Given the description of an element on the screen output the (x, y) to click on. 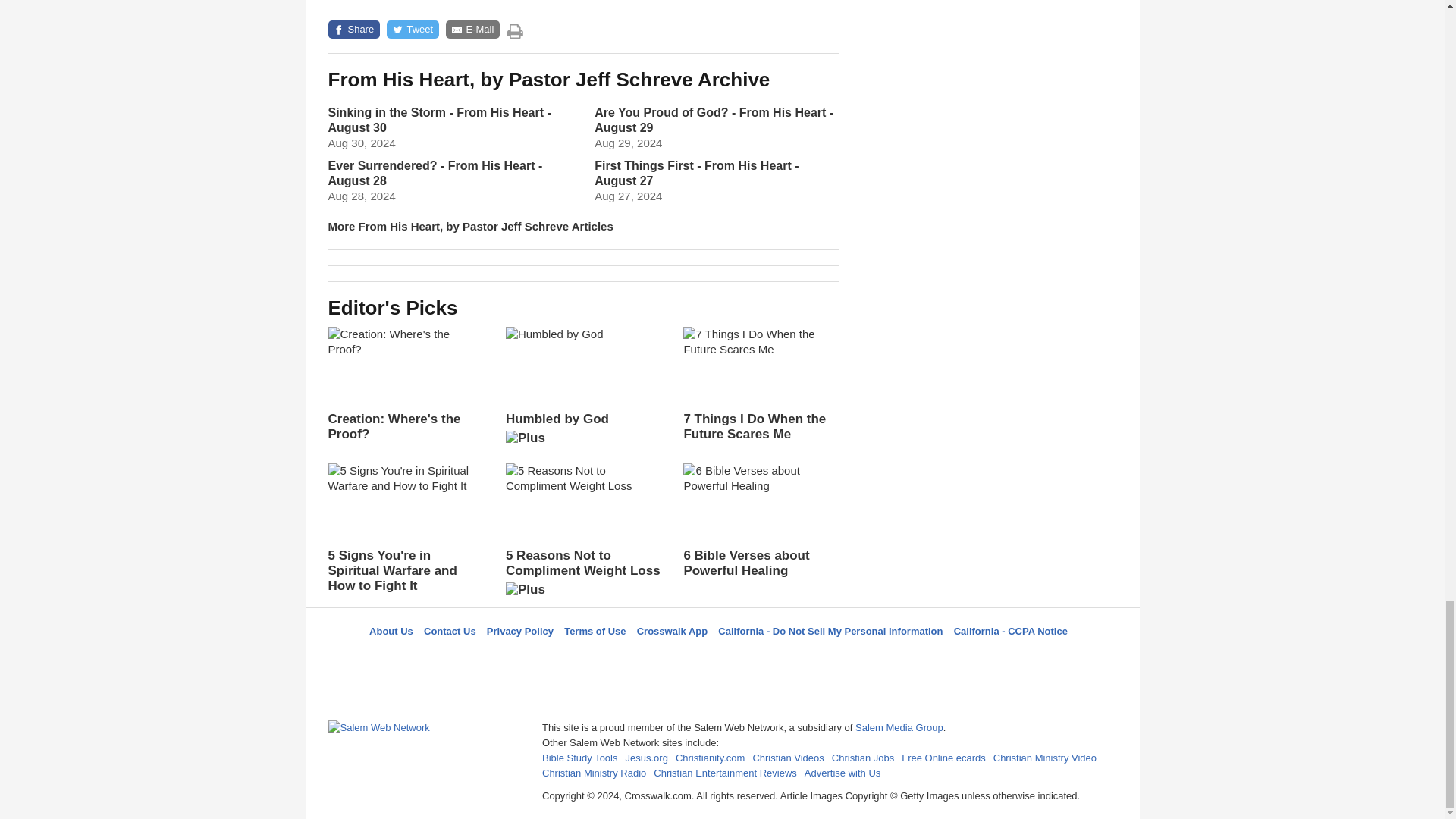
5 Reasons Not to Compliment Weight Loss (583, 535)
Facebook (645, 658)
Twitter (683, 658)
Humbled by God (583, 390)
Pinterest (757, 658)
5 Signs You're in Spiritual Warfare and How to Fight It (404, 528)
6 Bible Verses about Powerful Healing (760, 520)
Creation: Where's the Proof? (404, 384)
7 Things I Do When the Future Scares Me (760, 384)
LifeAudio (719, 658)
